Given the description of an element on the screen output the (x, y) to click on. 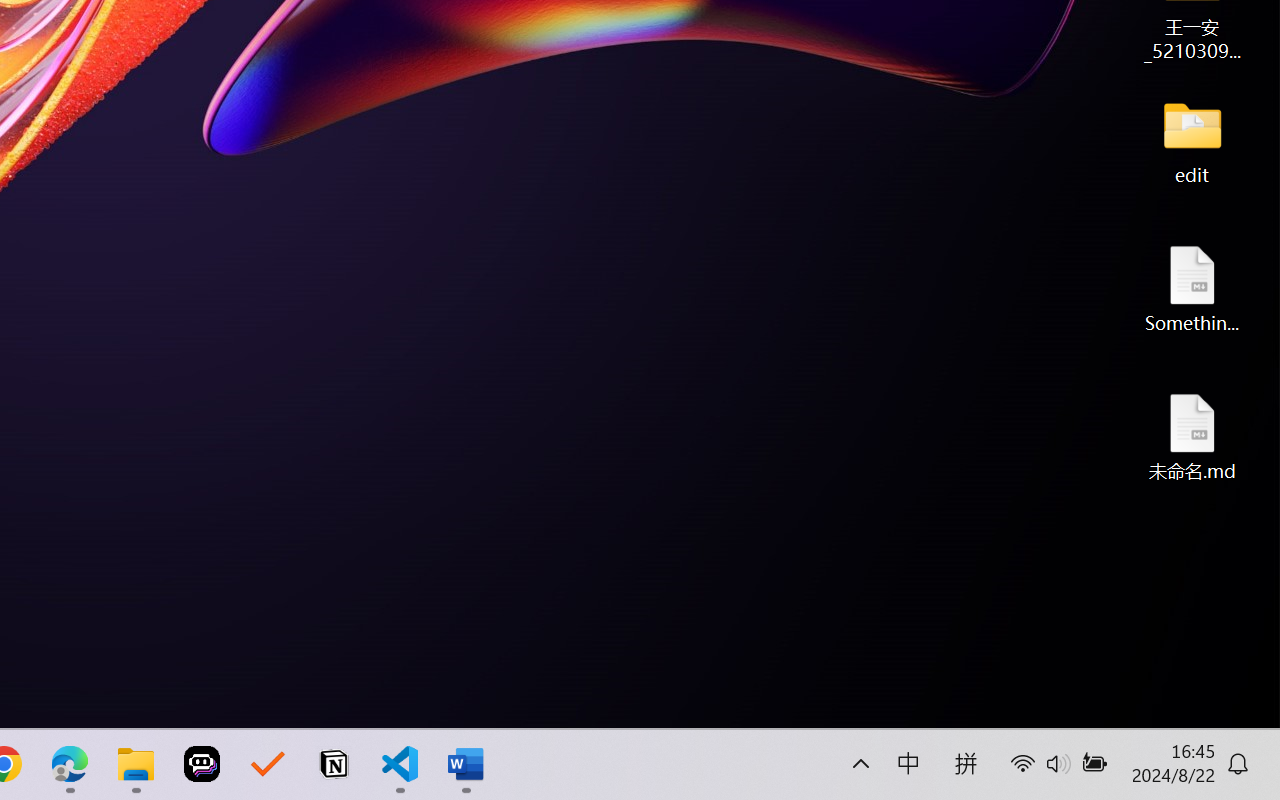
Something.md (1192, 288)
